Given the description of an element on the screen output the (x, y) to click on. 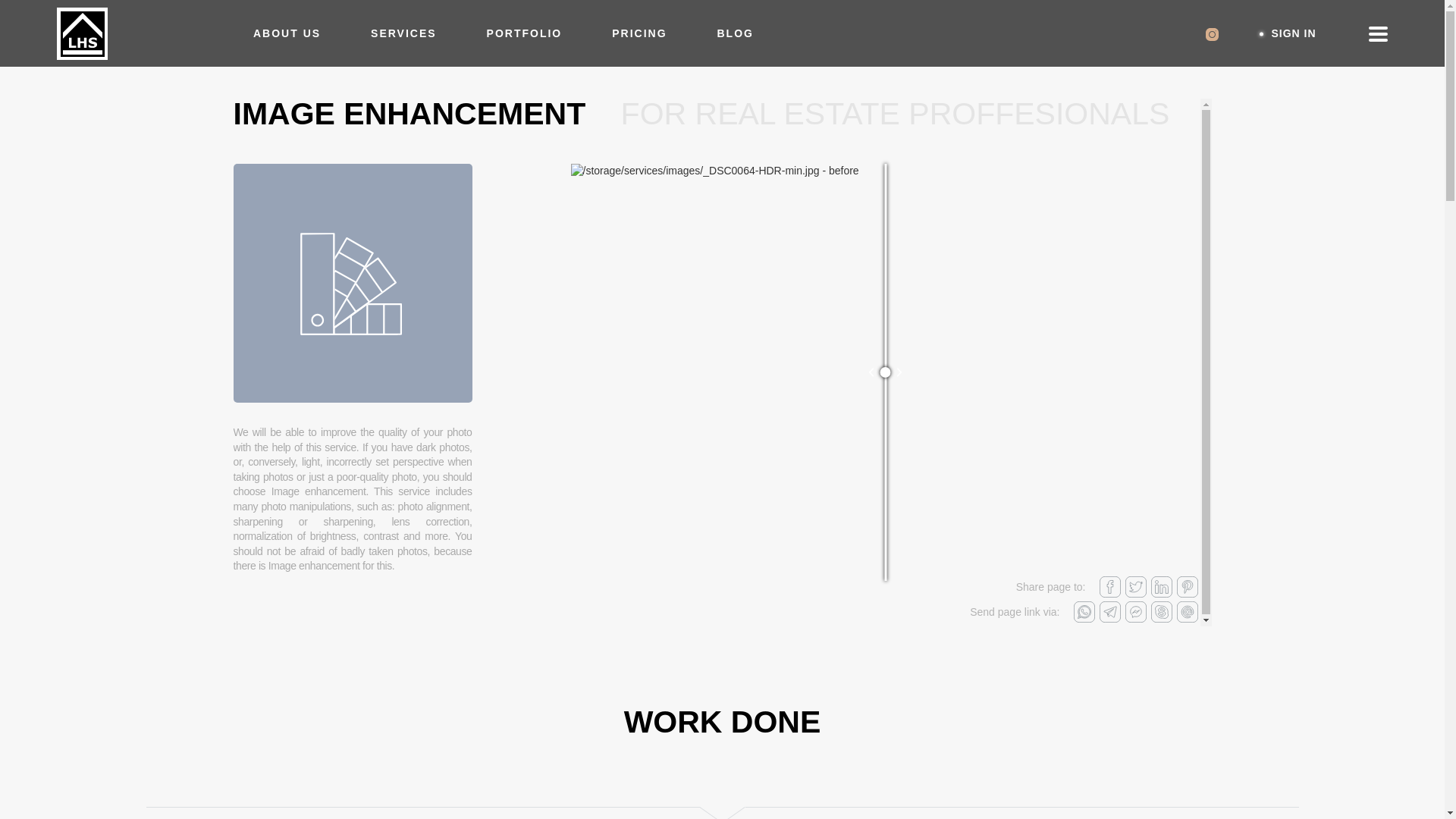
BLOG (735, 33)
SERVICES (403, 33)
PRICING (638, 33)
SIGN IN (1293, 33)
PORTFOLIO (524, 33)
ABOUT US (286, 33)
